Given the description of an element on the screen output the (x, y) to click on. 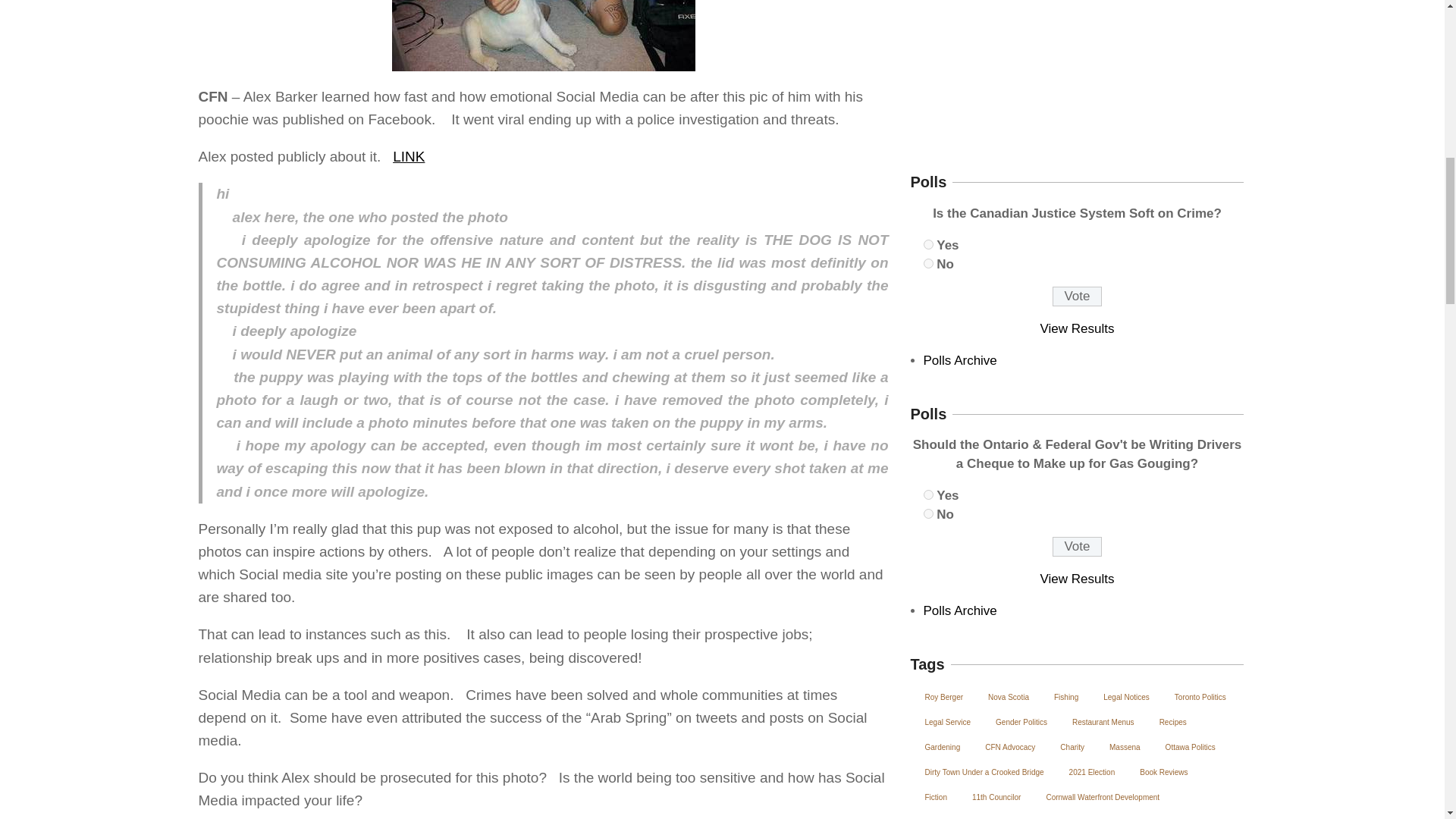
1755 (928, 263)
1763 (928, 513)
1762 (928, 494)
1754 (928, 244)
Alex Barker photo (542, 35)
   Vote    (1076, 546)
   Vote    (1076, 296)
